Given the description of an element on the screen output the (x, y) to click on. 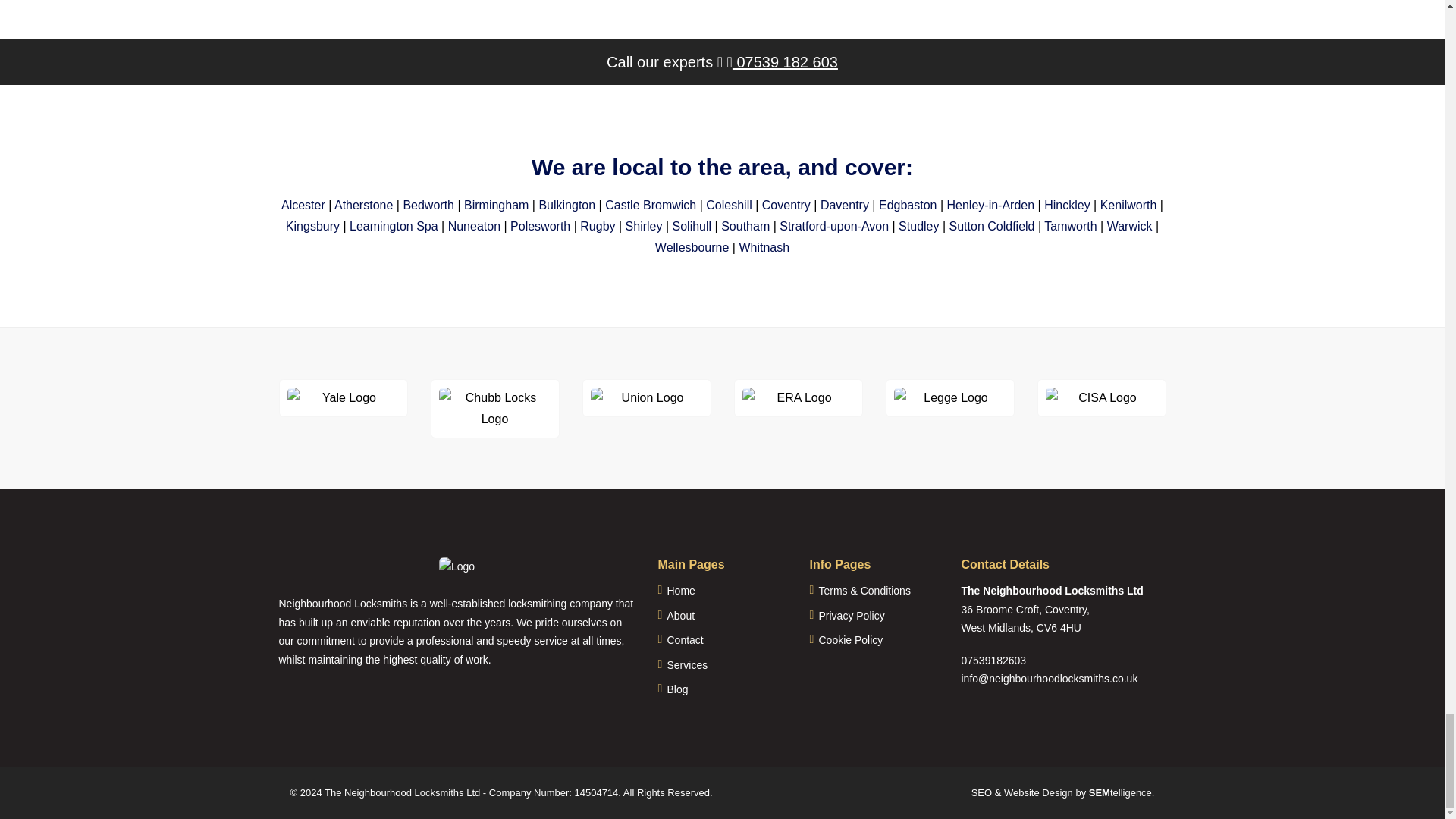
Castle Bromwich (650, 205)
Locksmith Alcester (302, 205)
Locksmith Bedworth (428, 205)
Southam (745, 226)
Nuneaton (474, 226)
Locksmith Atherstone (363, 205)
07539 182 603 (782, 62)
Bulkington (566, 205)
Stratford-upon-Avon (833, 226)
Rugby (596, 226)
